Given the description of an element on the screen output the (x, y) to click on. 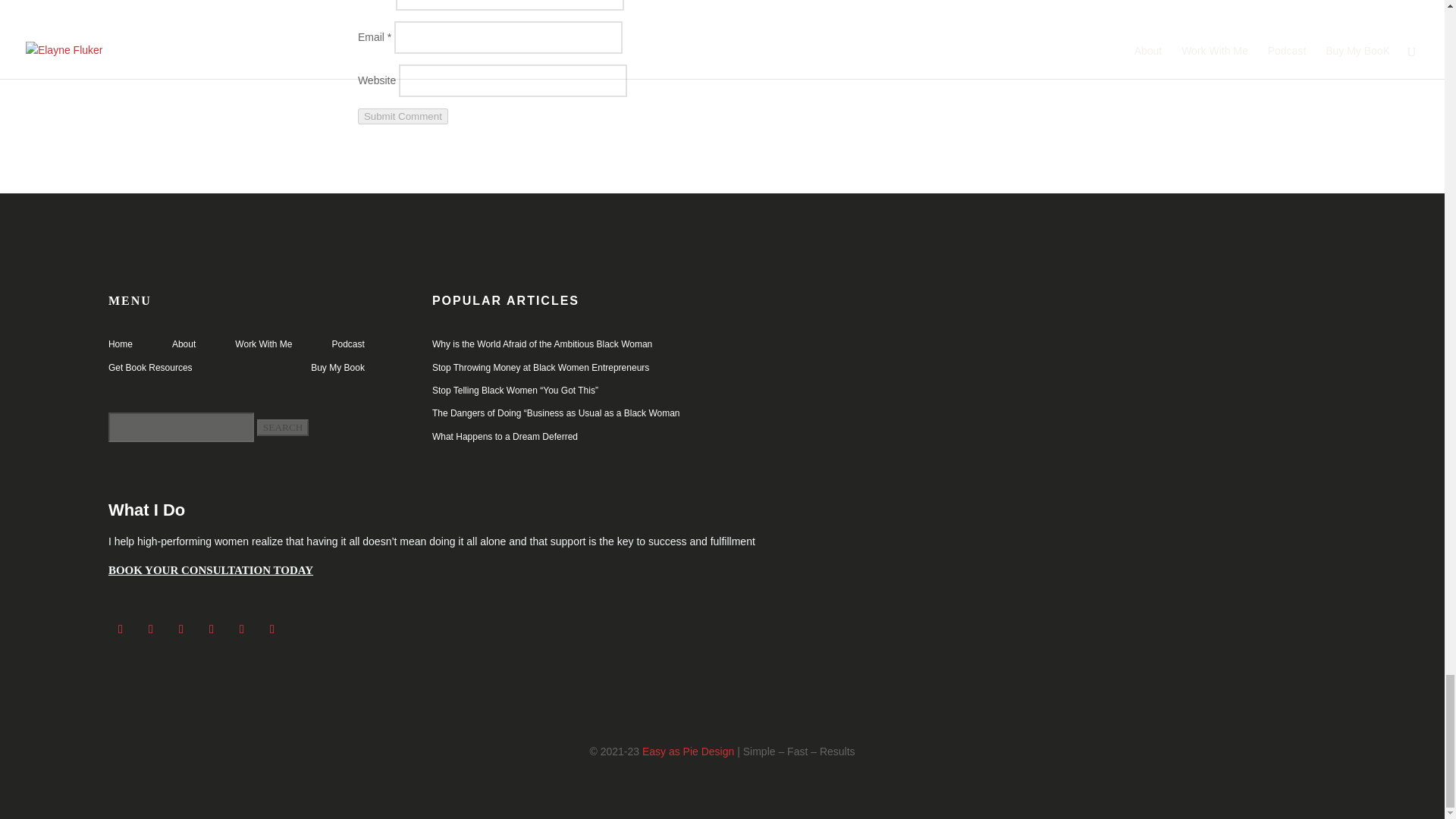
Search (282, 427)
Search (282, 427)
